Given the description of an element on the screen output the (x, y) to click on. 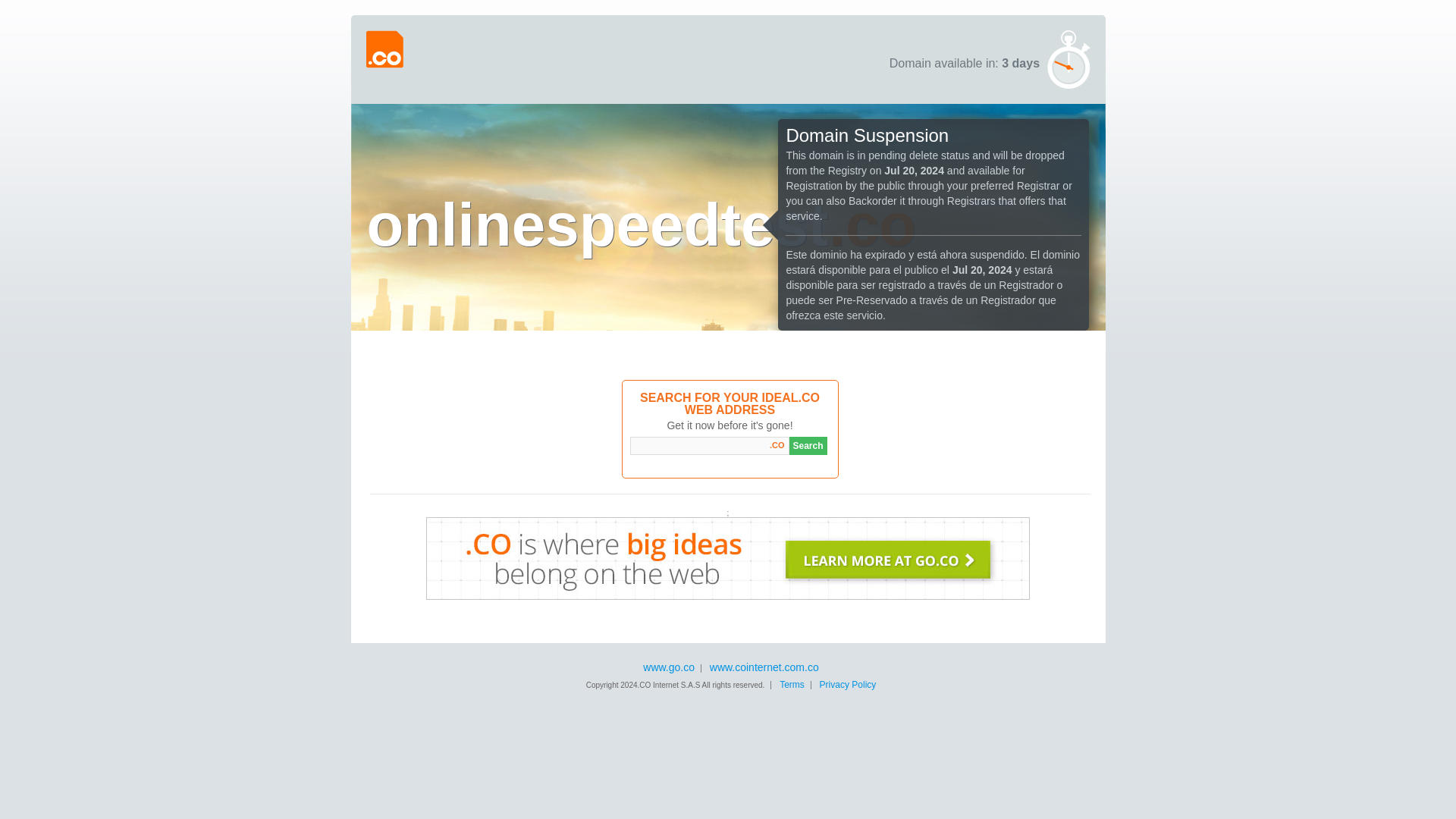
www.go.co (668, 666)
Search (808, 445)
Search (808, 445)
www.cointernet.com.co (764, 666)
onlinespeedtest.co (641, 224)
